Given the description of an element on the screen output the (x, y) to click on. 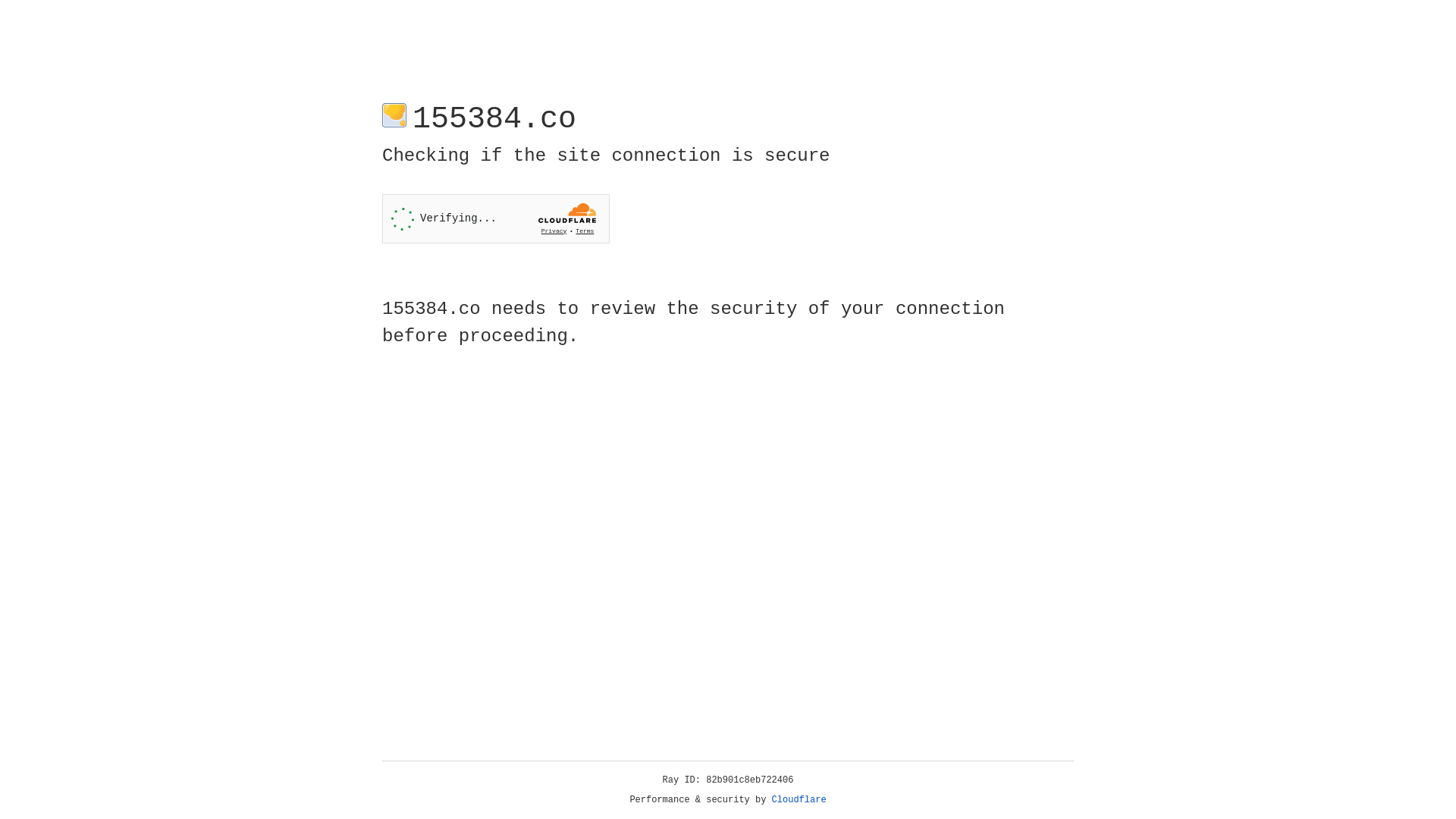
Widget containing a Cloudflare security challenge Element type: hover (495, 218)
Cloudflare Element type: text (798, 799)
